Given the description of an element on the screen output the (x, y) to click on. 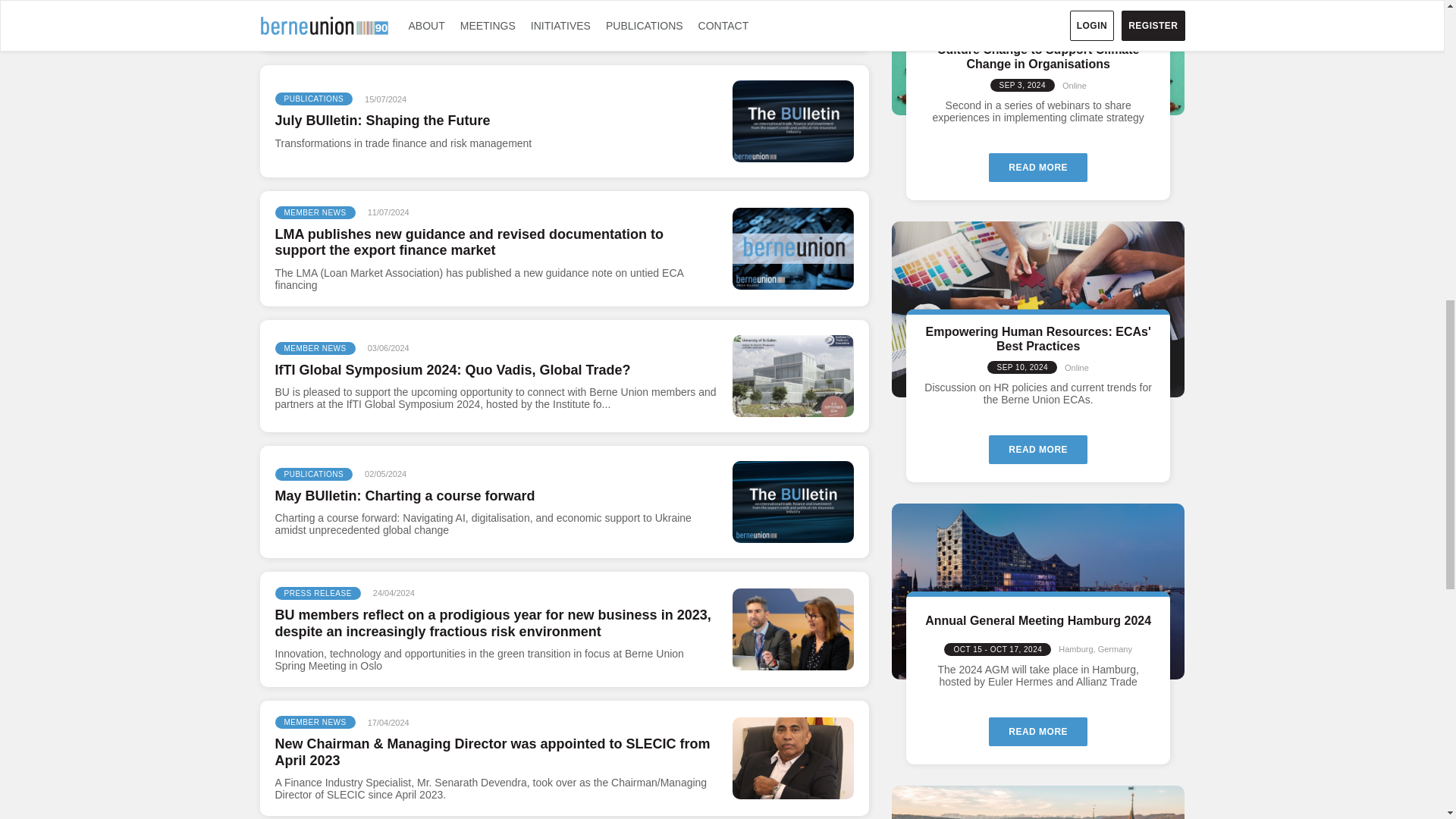
May BUlletin: Charting a course forward (792, 502)
Credendo ECA shares insight into its sustainability strategy (792, 18)
IfTI Global Symposium 2024: Quo Vadis, Global Trade? (792, 375)
July BUlletin: Shaping the Future  (792, 121)
